Given the description of an element on the screen output the (x, y) to click on. 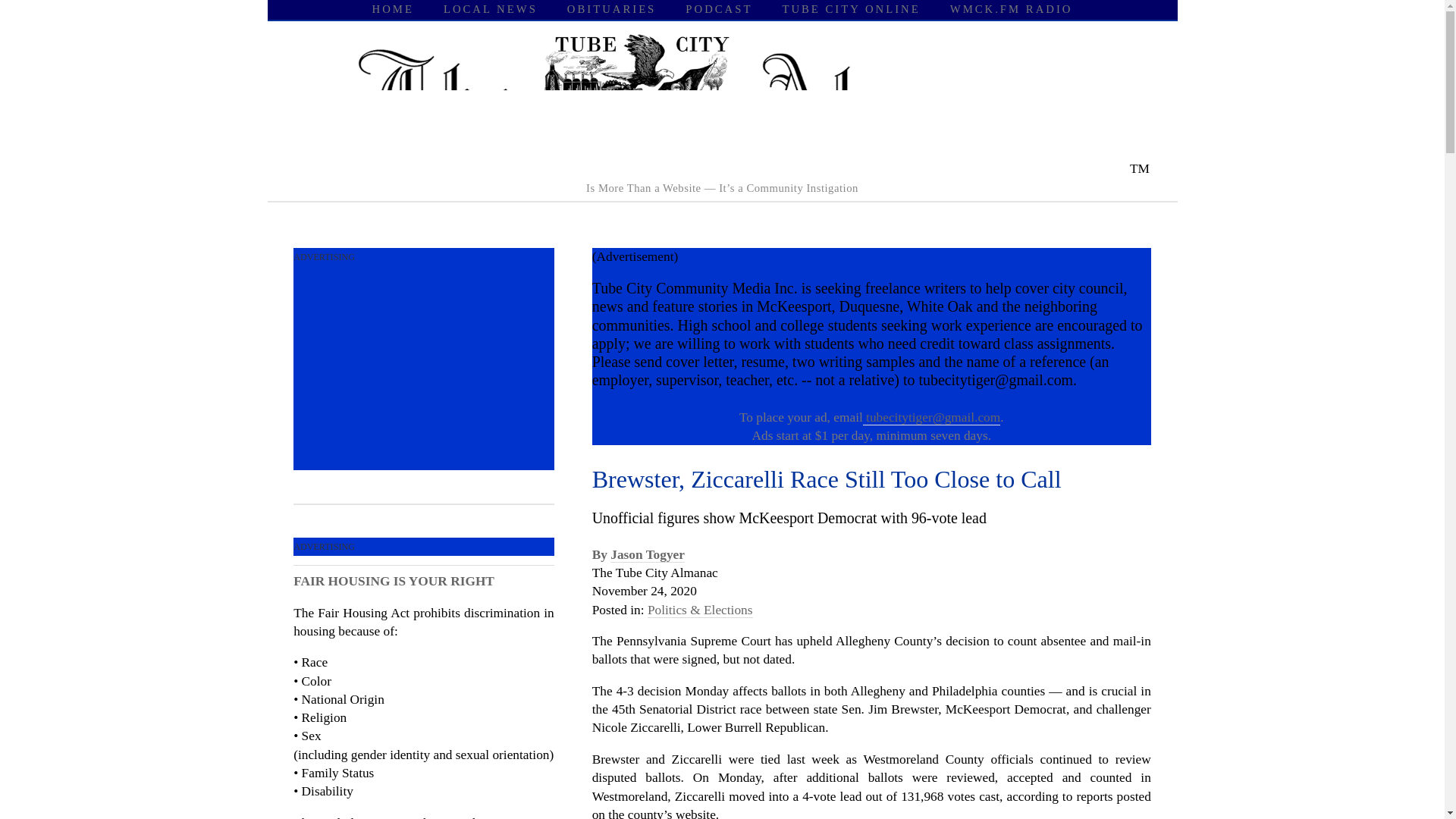
TUBE CITY ONLINE (850, 9)
OBITUARIES (611, 9)
WMCK.FM RADIO (1011, 9)
PODCAST (718, 9)
HOME (392, 9)
TM (722, 168)
LOCAL NEWS (490, 9)
